Given the description of an element on the screen output the (x, y) to click on. 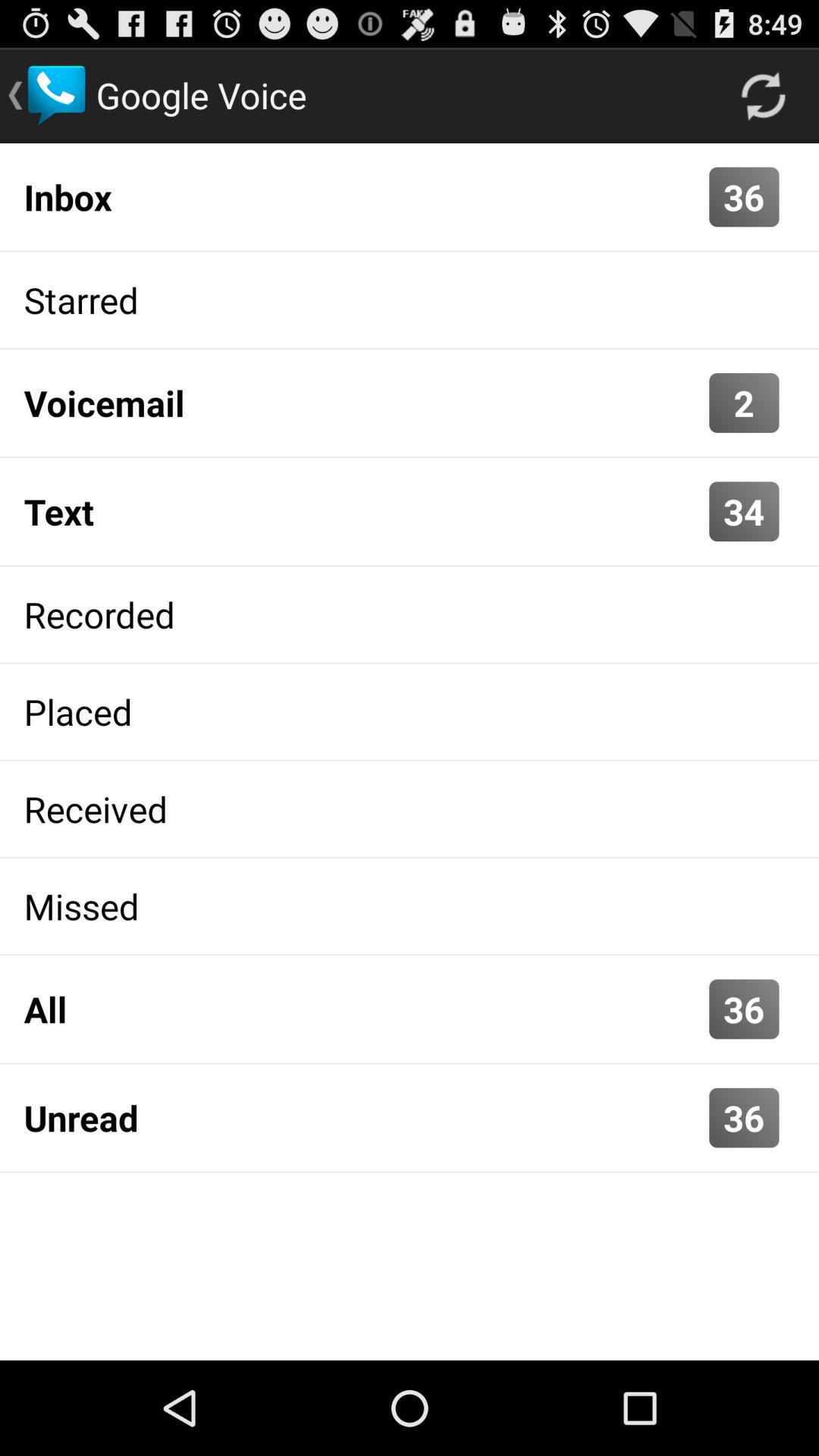
scroll to placed (409, 711)
